Given the description of an element on the screen output the (x, y) to click on. 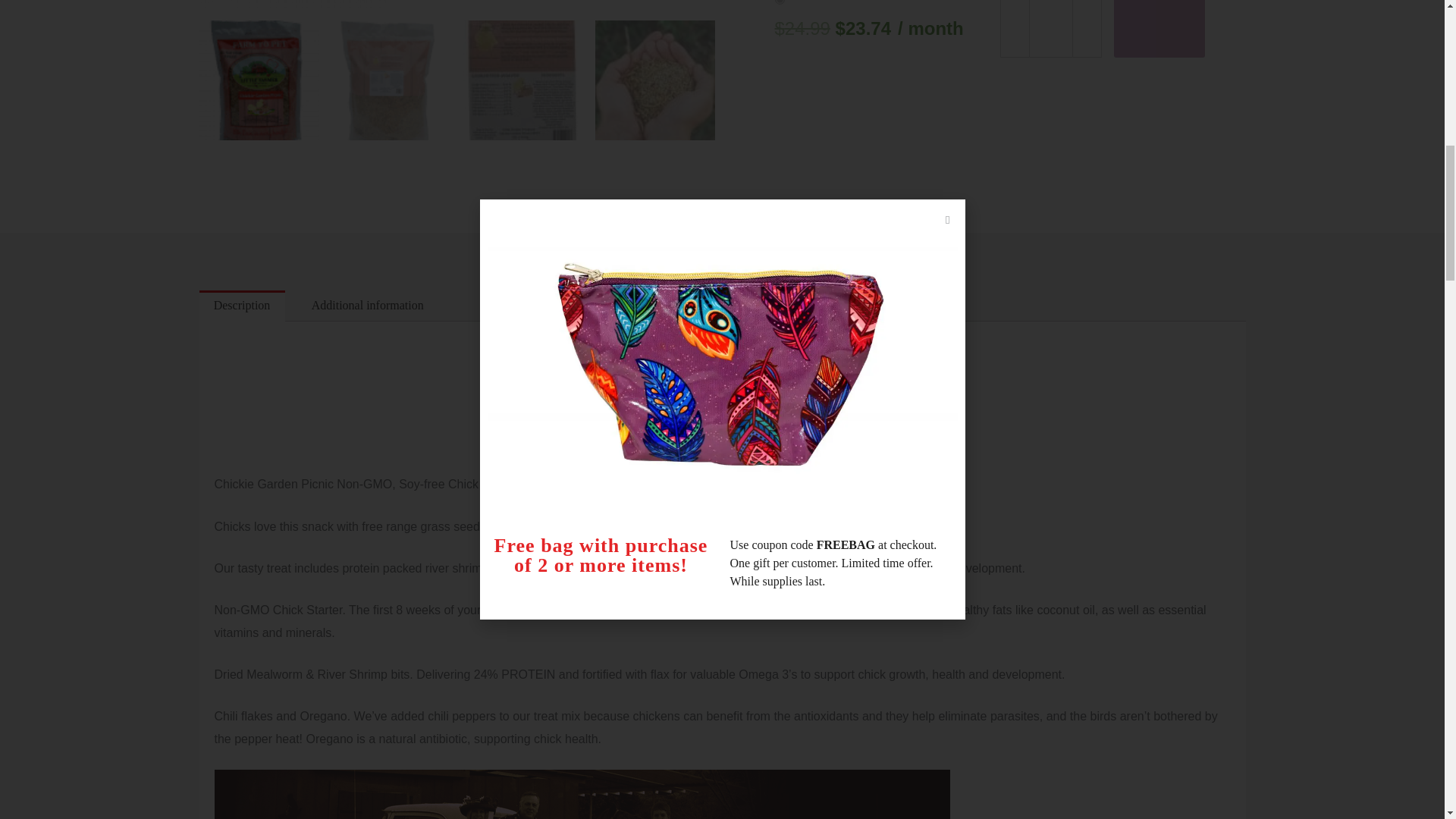
Chickie Garden Picnic front (456, 4)
